Given the description of an element on the screen output the (x, y) to click on. 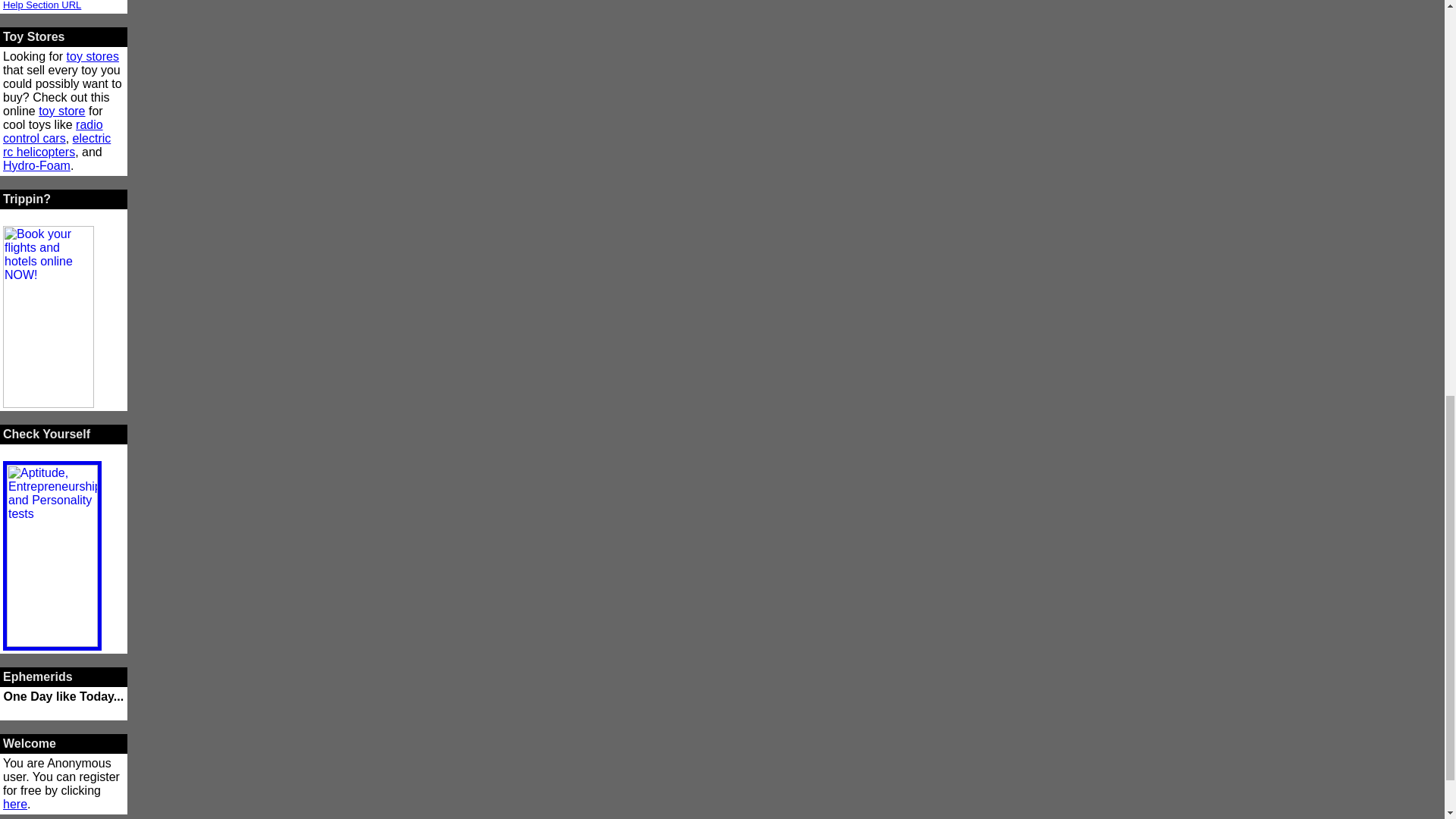
toy store (61, 110)
Hydro-Foam (35, 164)
here (14, 803)
radio control cars (52, 130)
toy stores (92, 56)
electric rc helicopters (56, 144)
Help Section URL (41, 5)
